Given the description of an element on the screen output the (x, y) to click on. 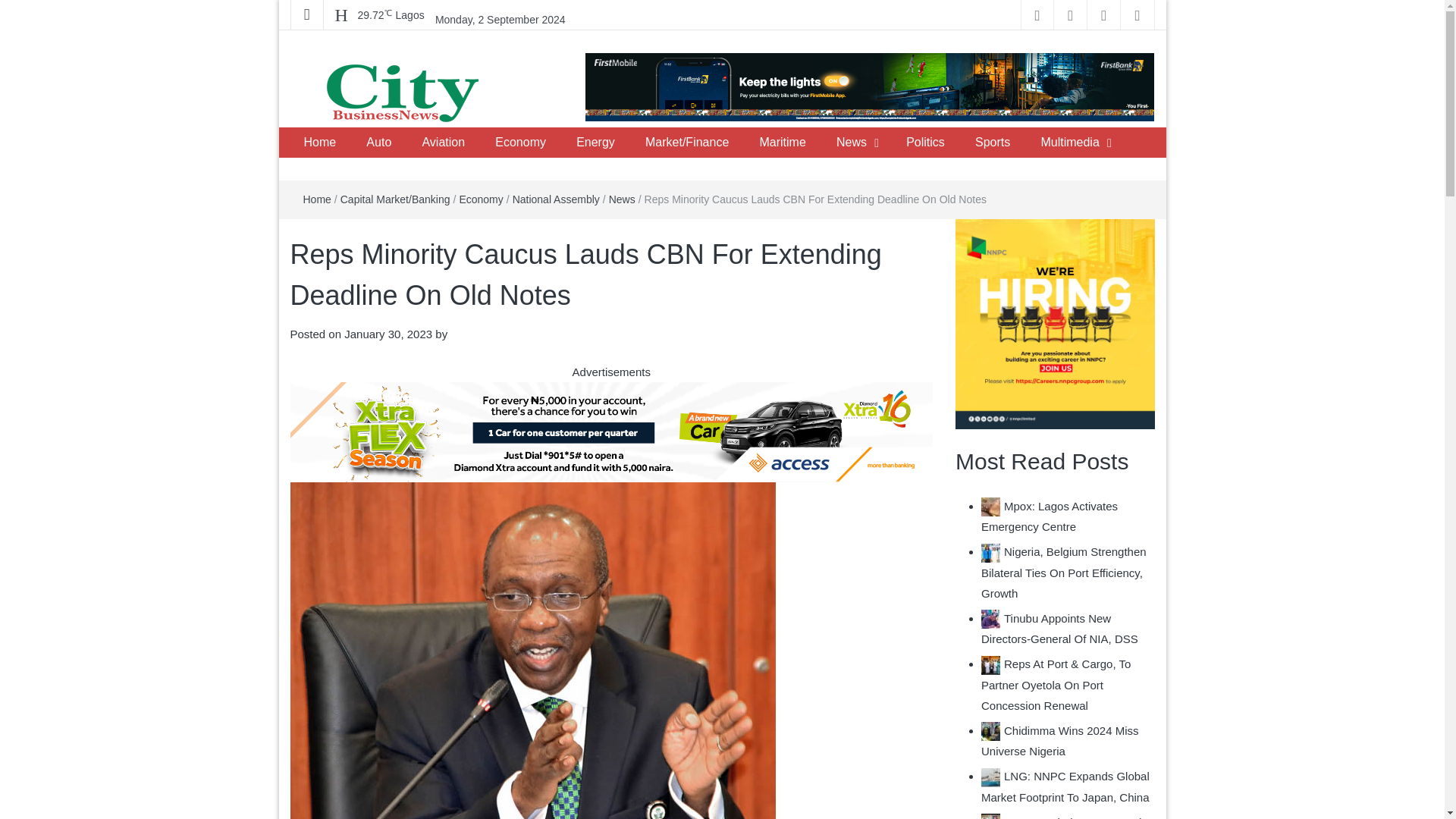
City Business News (410, 142)
News (851, 142)
Auto (378, 142)
Energy (595, 142)
Maritime (781, 142)
Aviation (443, 142)
Economy (520, 142)
Home (319, 142)
Clouds (391, 14)
